Given the description of an element on the screen output the (x, y) to click on. 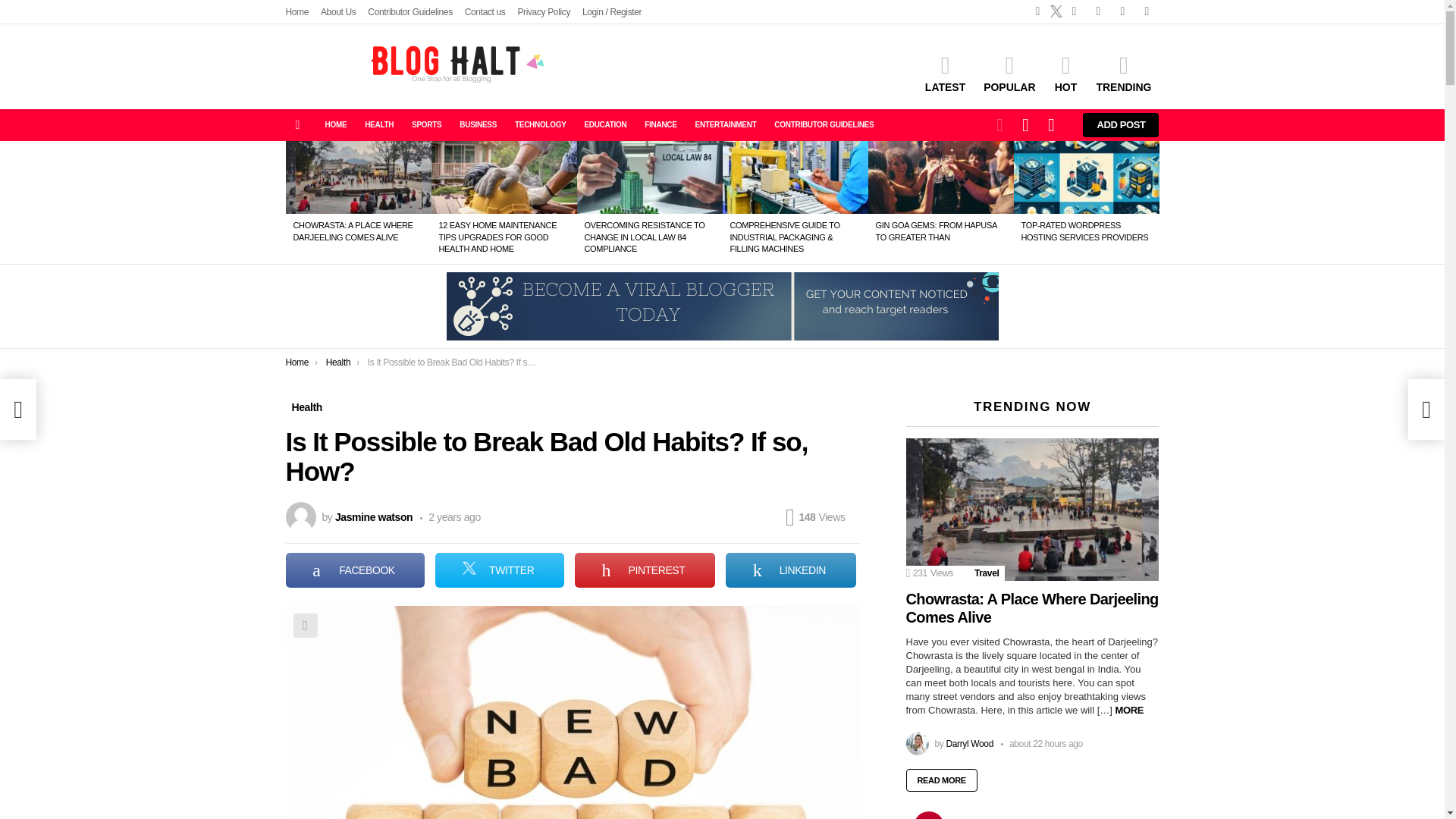
HOME (335, 124)
Share on Twitter (499, 570)
pinterest (1121, 10)
Privacy Policy (543, 12)
Top-rated WordPress Hosting Services Providers (1085, 176)
EDUCATION (604, 124)
FINANCE (660, 124)
Home (296, 12)
Flickr (1073, 10)
Menu (296, 125)
Contributor Guidelines (409, 12)
Gin Goa Gems: From Hapusa to Greater Than (940, 176)
LATEST (944, 73)
HEALTH (378, 124)
